Given the description of an element on the screen output the (x, y) to click on. 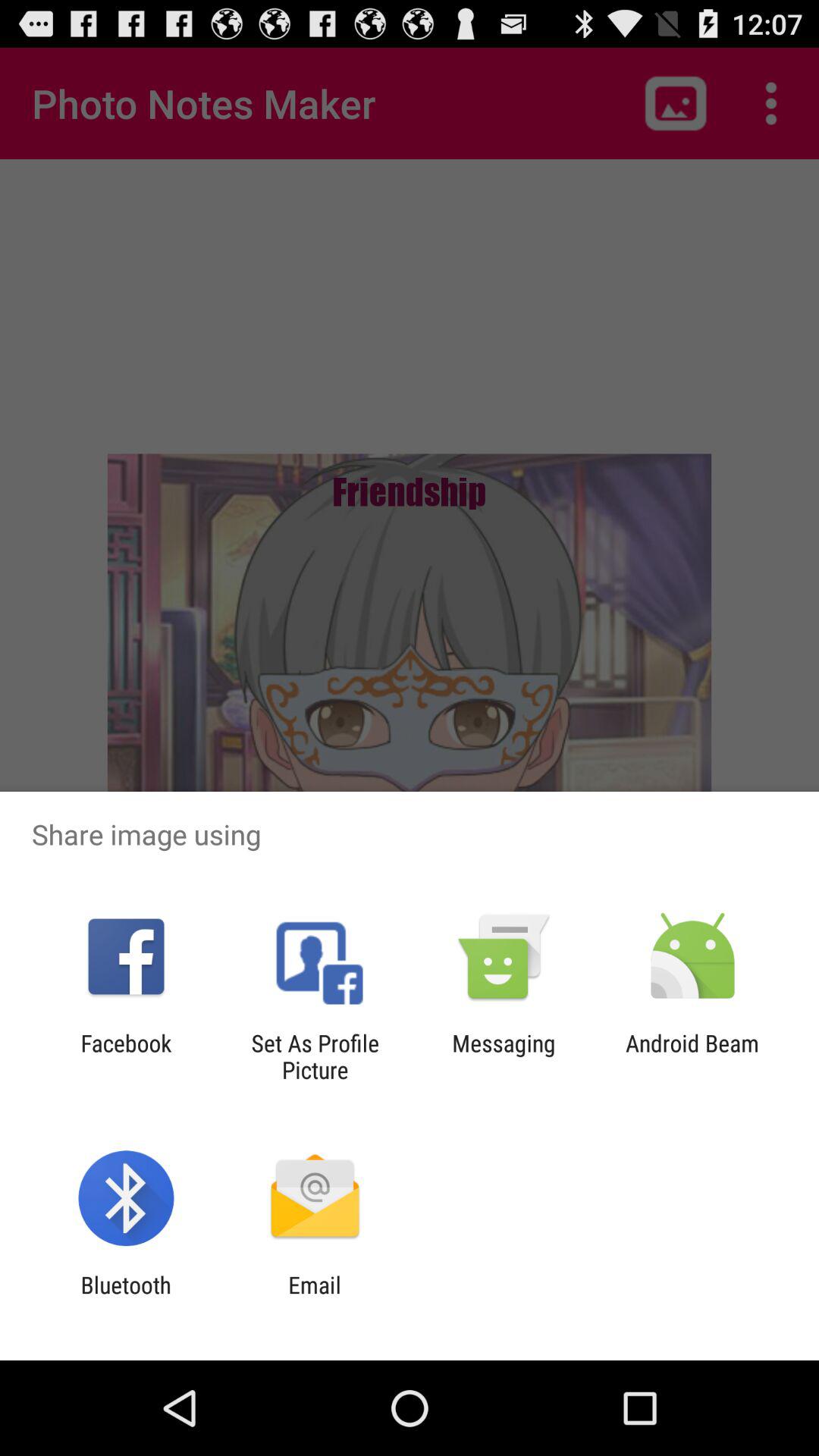
swipe to the set as profile icon (314, 1056)
